Given the description of an element on the screen output the (x, y) to click on. 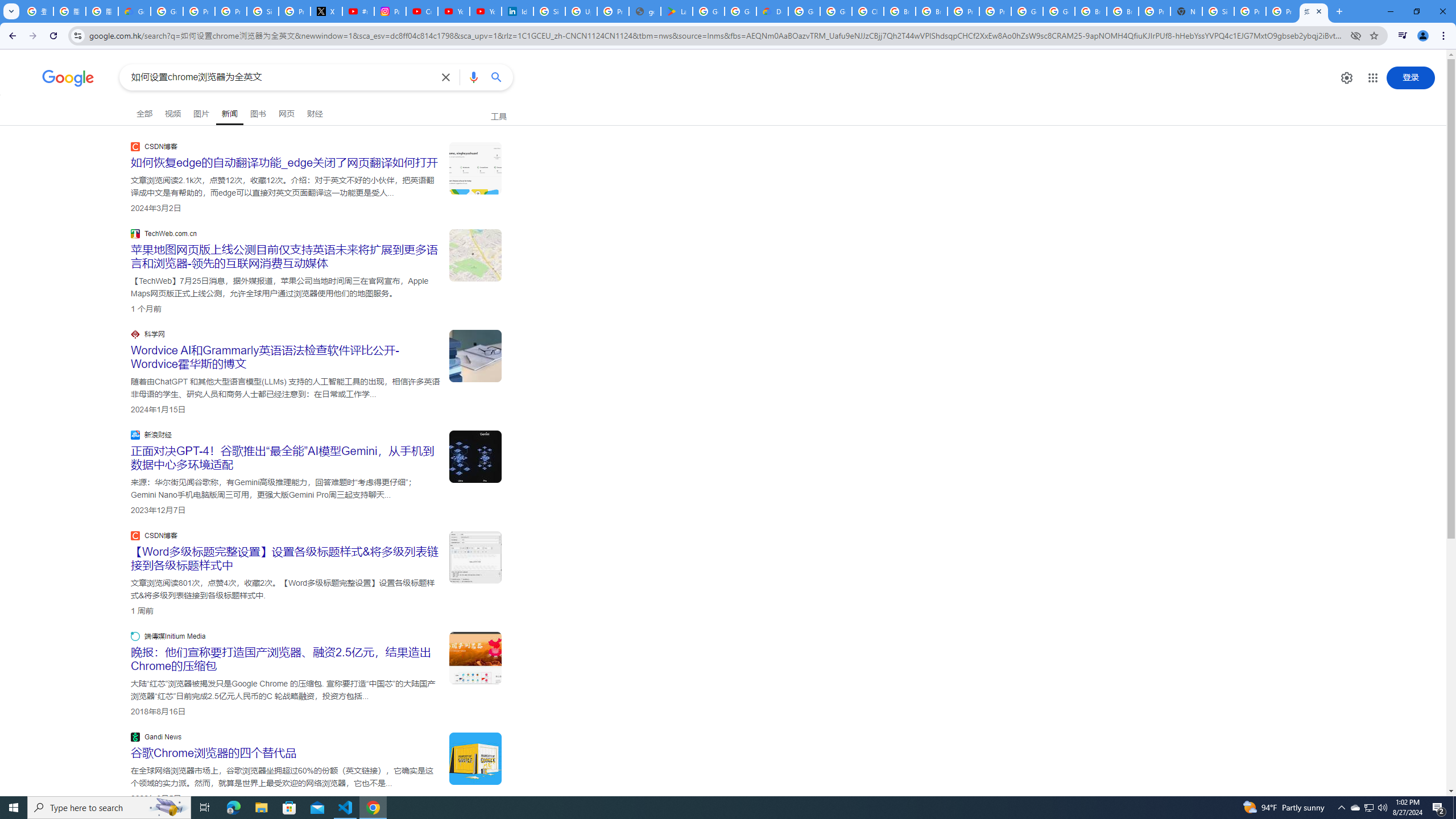
Privacy Help Center - Policies Help (230, 11)
Browse Chrome as a guest - Computer - Google Chrome Help (899, 11)
Google Cloud Privacy Notice (134, 11)
#nbabasketballhighlights - YouTube (358, 11)
